Given the description of an element on the screen output the (x, y) to click on. 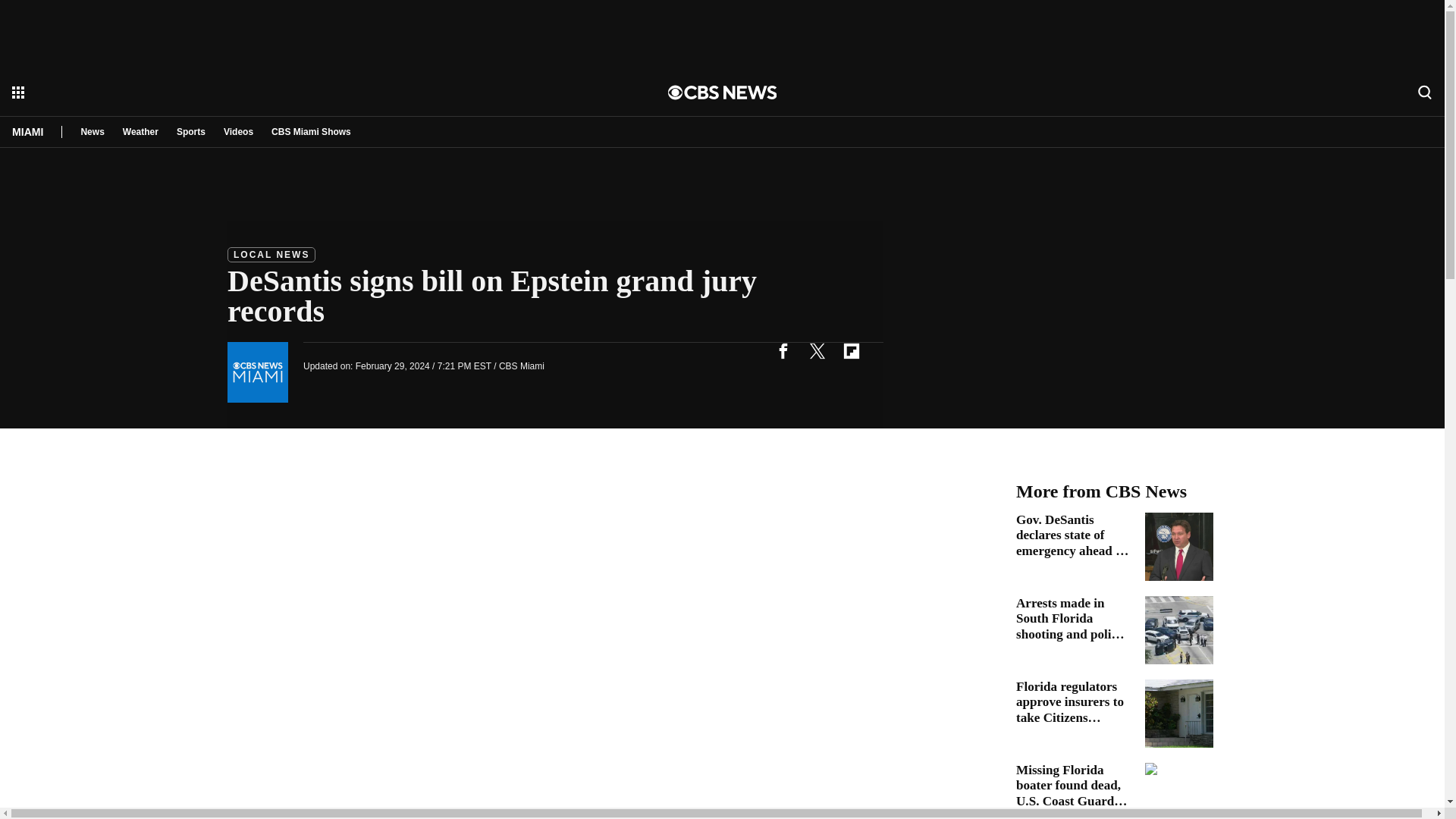
flipboard (850, 350)
facebook (782, 350)
twitter (816, 350)
